Given the description of an element on the screen output the (x, y) to click on. 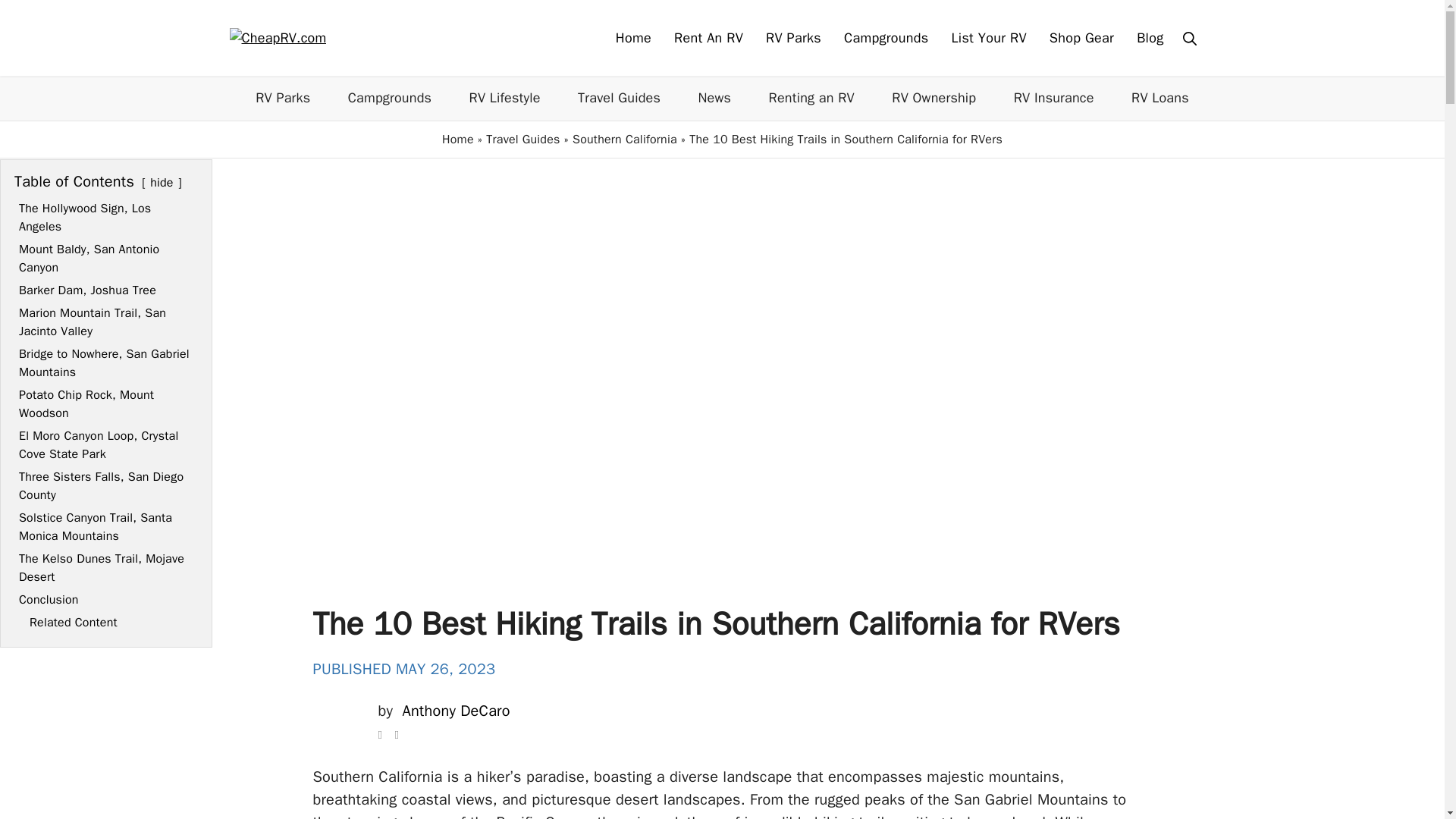
Southern California (624, 139)
Travel Guides (522, 139)
Renting an RV (811, 97)
RV Parks (793, 37)
News (715, 97)
RV Lifestyle (504, 97)
Campgrounds (886, 37)
RV Loans (1160, 97)
Rent An RV (708, 37)
